Given the description of an element on the screen output the (x, y) to click on. 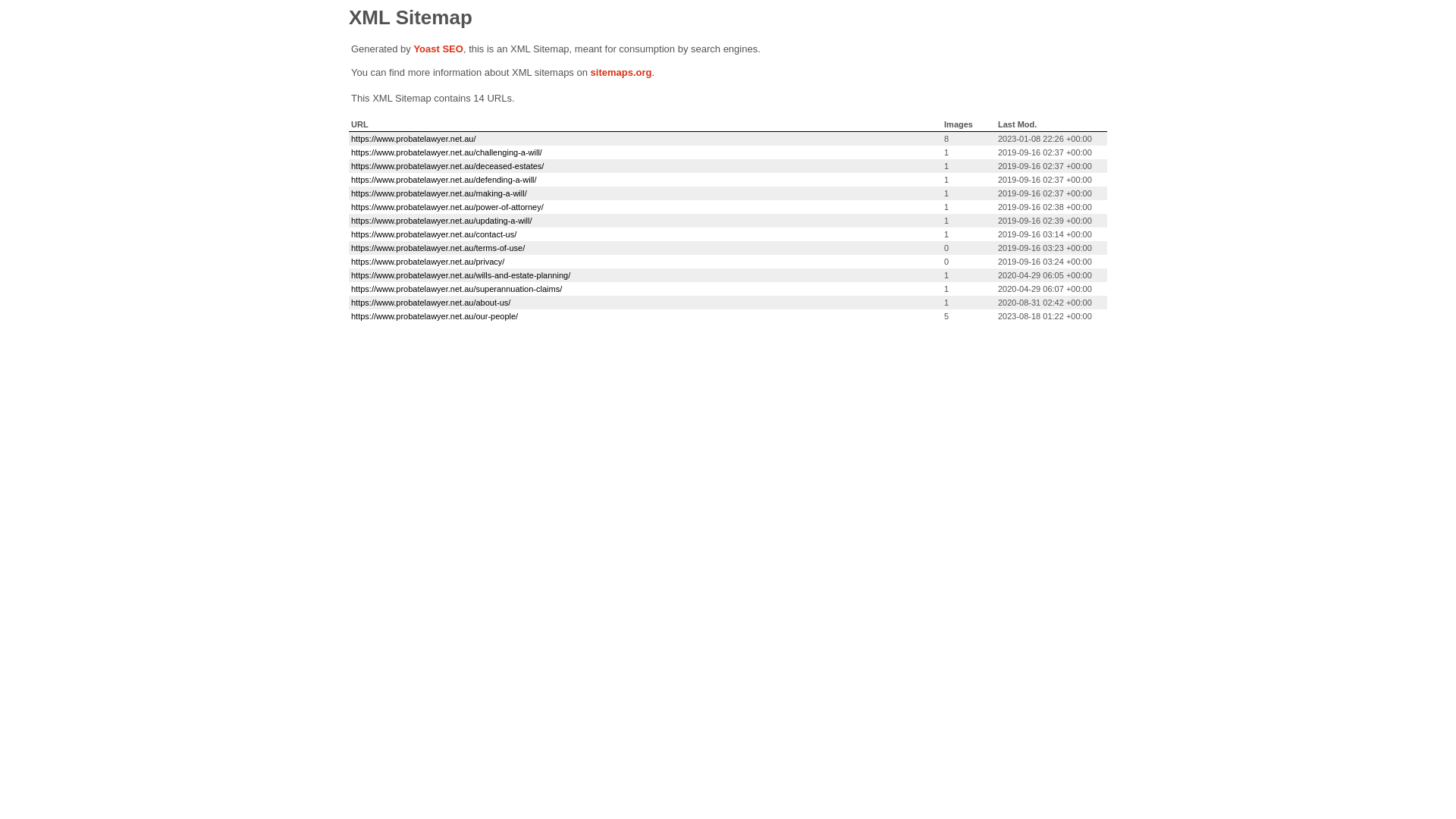
https://www.probatelawyer.net.au/privacy/ Element type: text (427, 261)
https://www.probatelawyer.net.au/defending-a-will/ Element type: text (443, 179)
https://www.probatelawyer.net.au/challenging-a-will/ Element type: text (446, 151)
sitemaps.org Element type: text (621, 72)
https://www.probatelawyer.net.au/power-of-attorney/ Element type: text (447, 206)
https://www.probatelawyer.net.au/updating-a-will/ Element type: text (441, 220)
https://www.probatelawyer.net.au/superannuation-claims/ Element type: text (456, 288)
https://www.probatelawyer.net.au/our-people/ Element type: text (434, 315)
https://www.probatelawyer.net.au/ Element type: text (413, 138)
https://www.probatelawyer.net.au/contact-us/ Element type: text (433, 233)
https://www.probatelawyer.net.au/terms-of-use/ Element type: text (437, 247)
https://www.probatelawyer.net.au/deceased-estates/ Element type: text (447, 165)
https://www.probatelawyer.net.au/wills-and-estate-planning/ Element type: text (460, 274)
https://www.probatelawyer.net.au/about-us/ Element type: text (430, 302)
Yoast SEO Element type: text (438, 48)
https://www.probatelawyer.net.au/making-a-will/ Element type: text (439, 192)
